Given the description of an element on the screen output the (x, y) to click on. 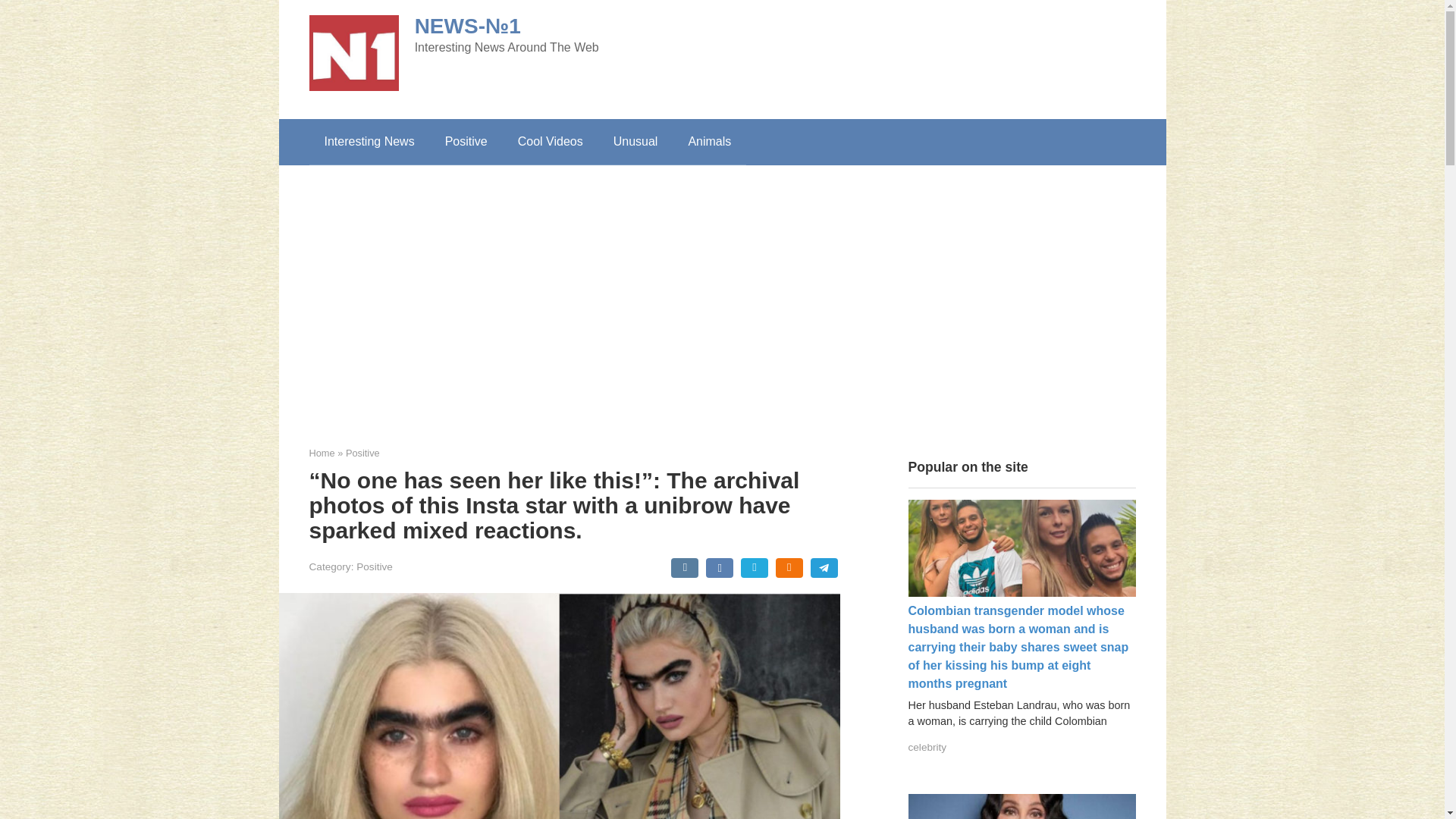
Home (321, 452)
Positive (363, 452)
Animals (708, 141)
Unusual (635, 141)
Cool Videos (550, 141)
Positive (374, 566)
Interesting News (368, 141)
celebrity (927, 747)
Positive (465, 141)
